Given the description of an element on the screen output the (x, y) to click on. 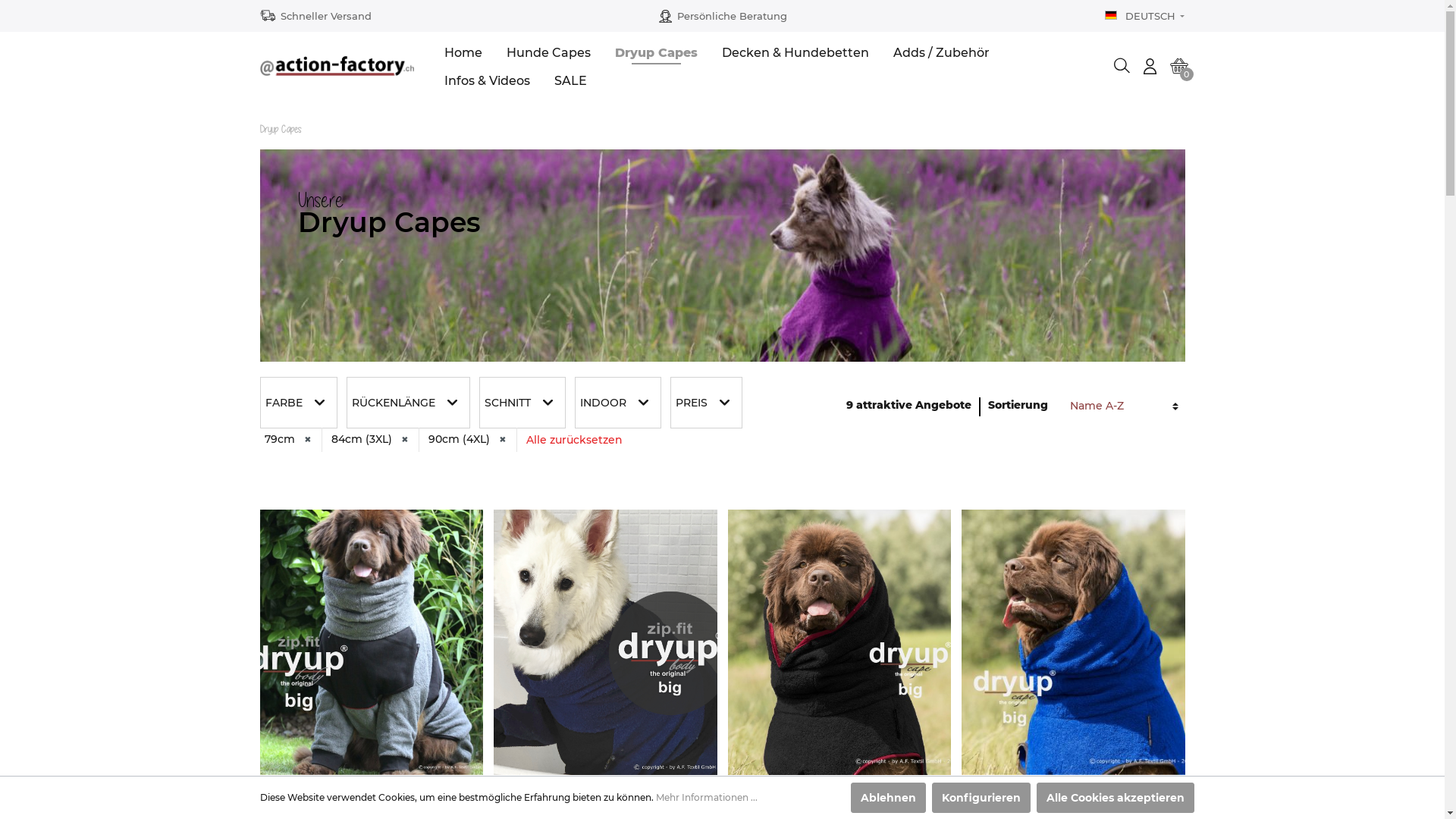
Alle Cookies akzeptieren Element type: text (1114, 797)
Zur Startseite wechseln Element type: hover (336, 65)
SALE Element type: text (582, 79)
PREIS Element type: text (706, 402)
Konfigurieren Element type: text (980, 797)
INDOOR Element type: text (617, 402)
Decken & Hundebetten Element type: text (807, 51)
Dryup Capes Element type: text (279, 128)
Schneller Versand Element type: text (325, 15)
Mein Konto Element type: hover (1149, 65)
Hunde Capes Element type: text (560, 51)
Mehr Informationen ... Element type: text (705, 797)
Infos & Videos Element type: text (499, 79)
0 Element type: text (1179, 65)
DEUTSCH Element type: text (1144, 15)
FARBE Element type: text (297, 402)
Dryup Capes Element type: text (668, 51)
SCHNITT Element type: text (522, 402)
Home Element type: text (475, 51)
Ablehnen Element type: text (887, 797)
